Given the description of an element on the screen output the (x, y) to click on. 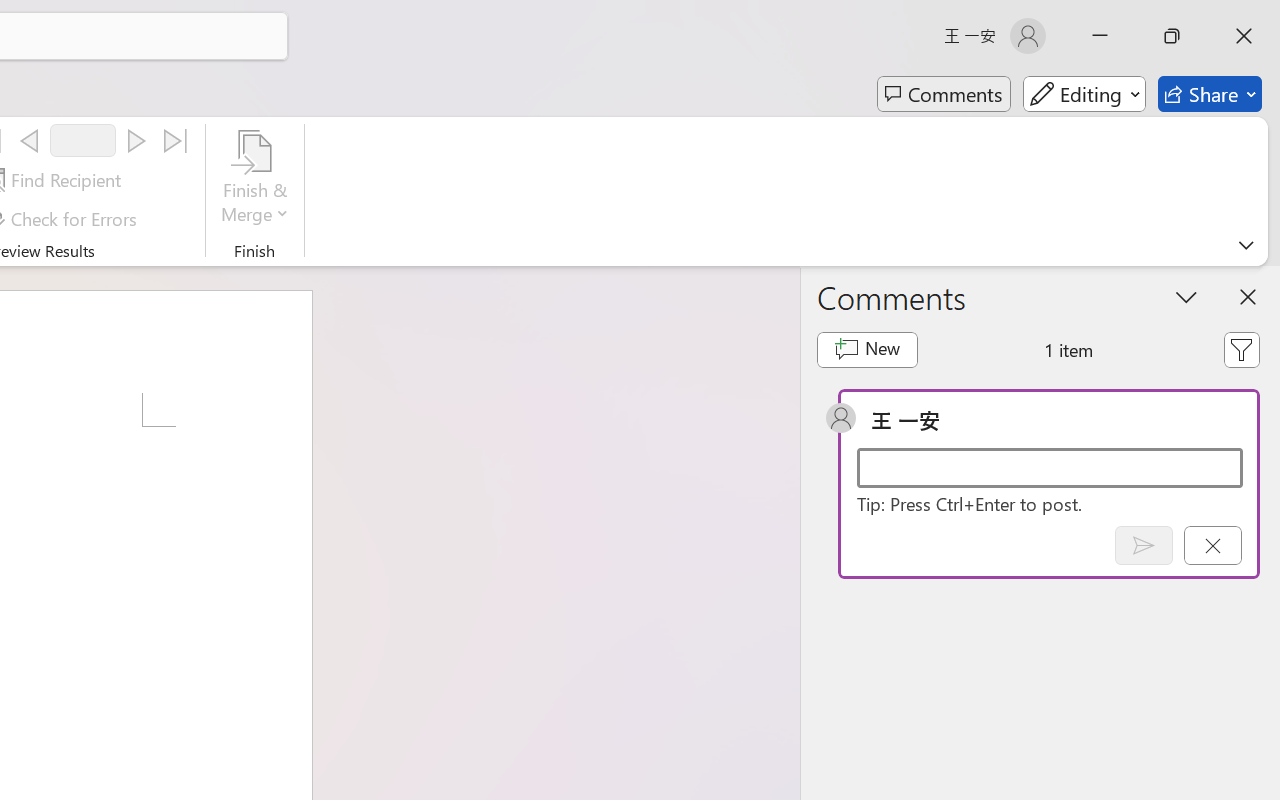
Next (136, 141)
Last (175, 141)
